Given the description of an element on the screen output the (x, y) to click on. 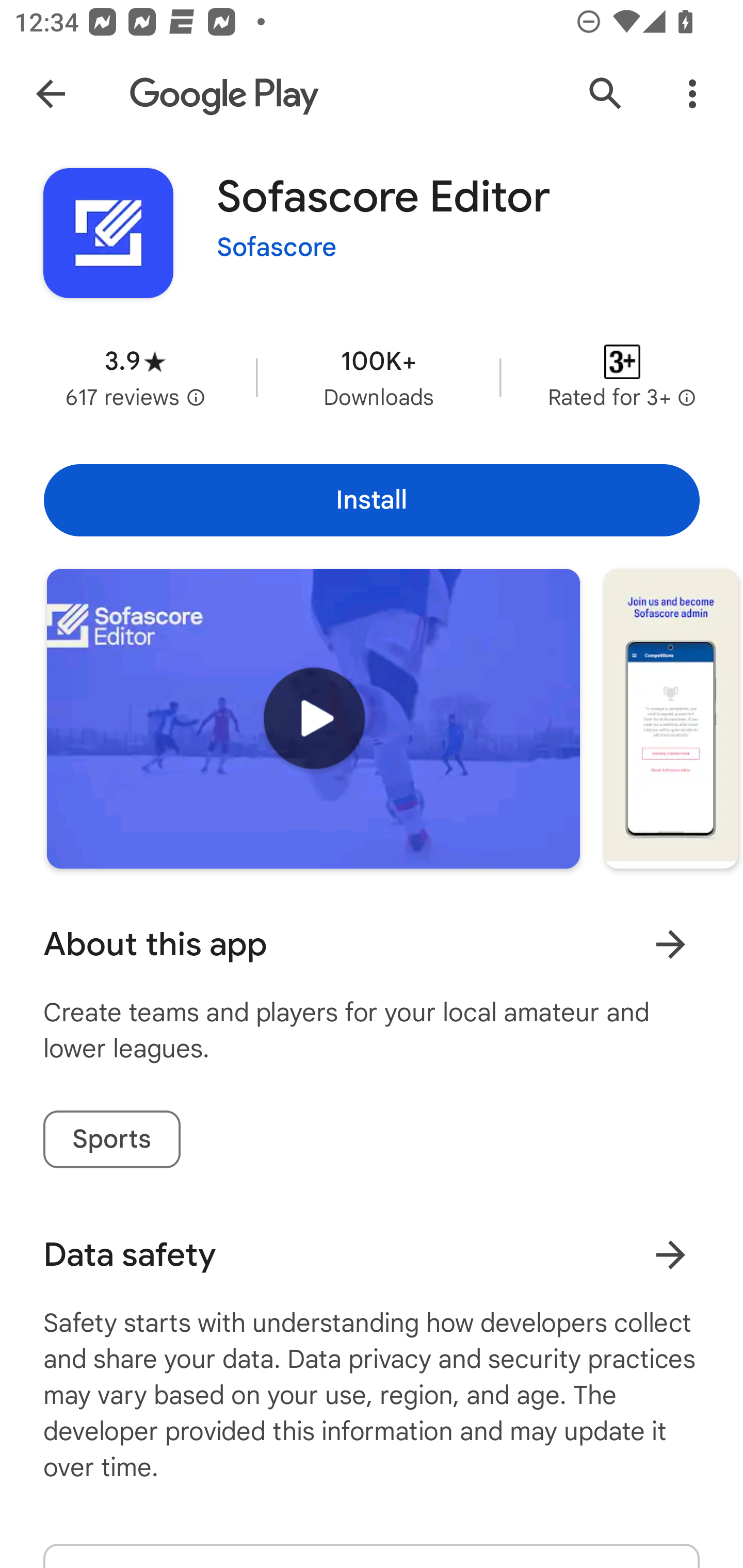
Navigate up (50, 93)
Search Google Play (605, 93)
More Options (692, 93)
Sofascore (276, 247)
Average rating 3.9 stars in 617 reviews (135, 377)
Content rating Rated for 3+ (622, 377)
Install (371, 500)
Play trailer for "Sofascore Editor" (313, 718)
Screenshot "1" of "7" (670, 718)
About this app Learn more About this app (371, 944)
Learn more About this app (670, 944)
Sports tag (111, 1139)
Data safety Learn more about data safety (371, 1255)
Learn more about data safety (670, 1255)
